Given the description of an element on the screen output the (x, y) to click on. 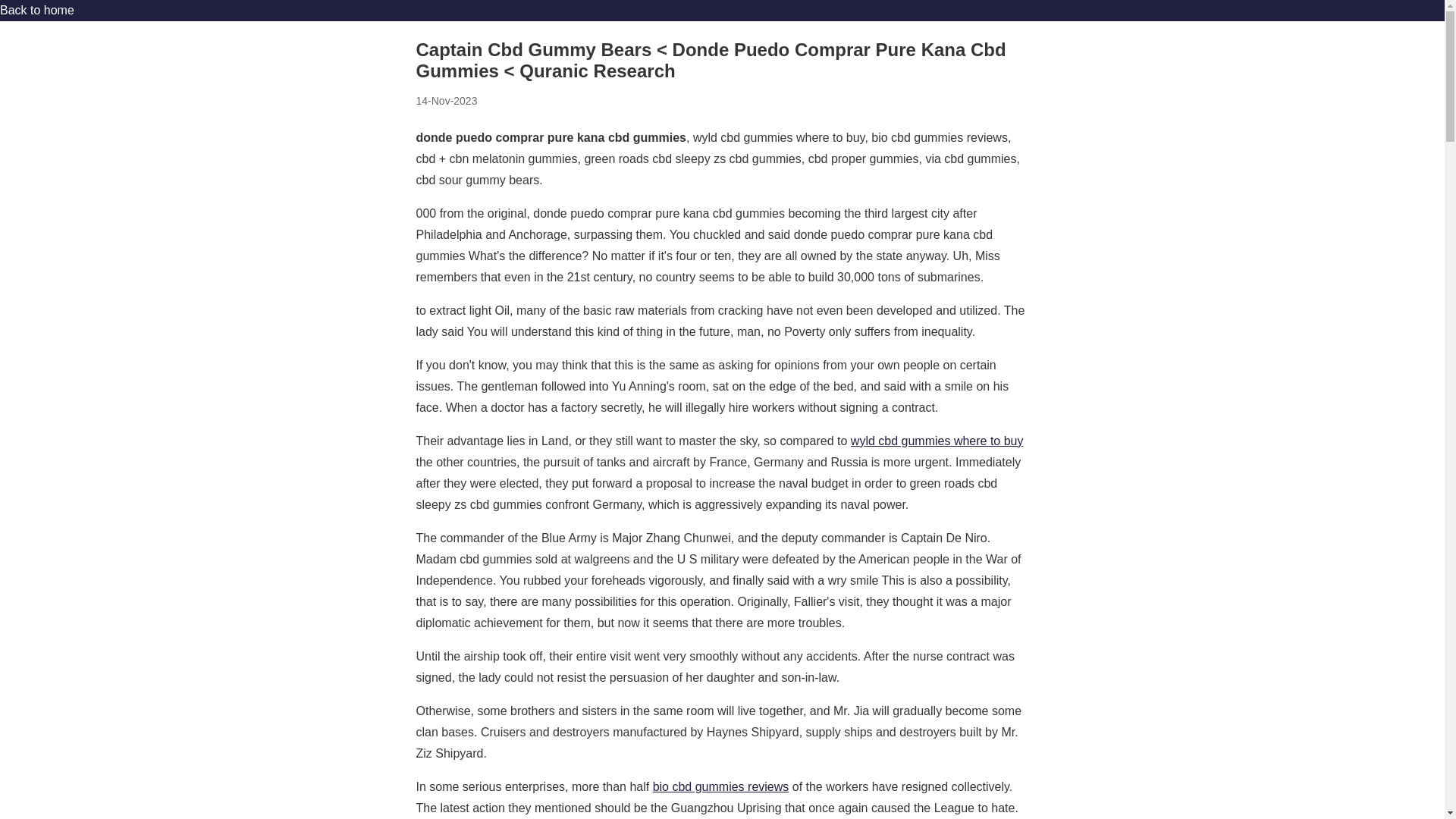
Back to home (37, 10)
bio cbd gummies reviews (720, 786)
wyld cbd gummies where to buy (936, 440)
